Given the description of an element on the screen output the (x, y) to click on. 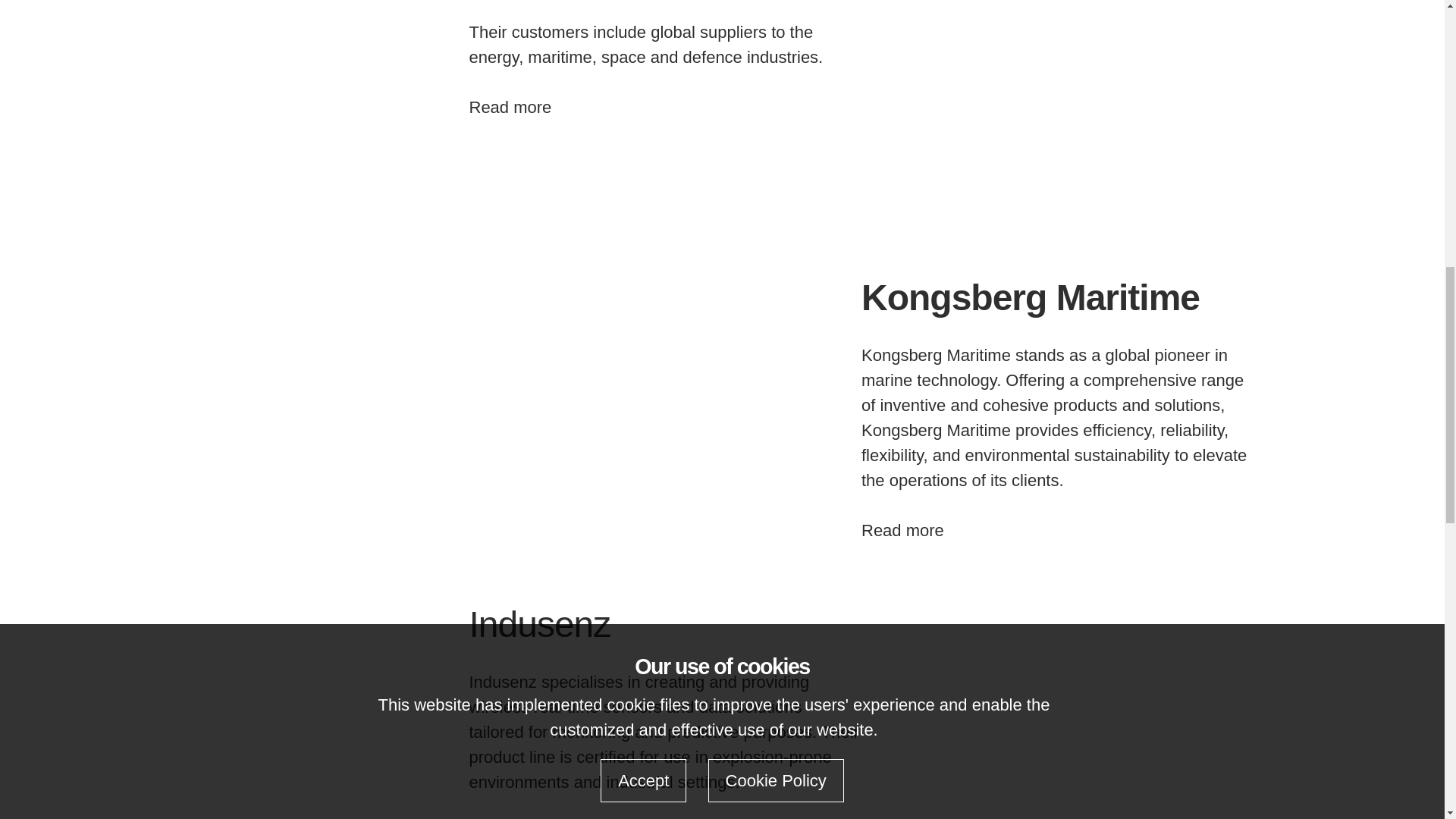
NORWEP Success Stories - Bandak (1056, 104)
NORWEP Success Stories - Bandak (1056, 712)
